Given the description of an element on the screen output the (x, y) to click on. 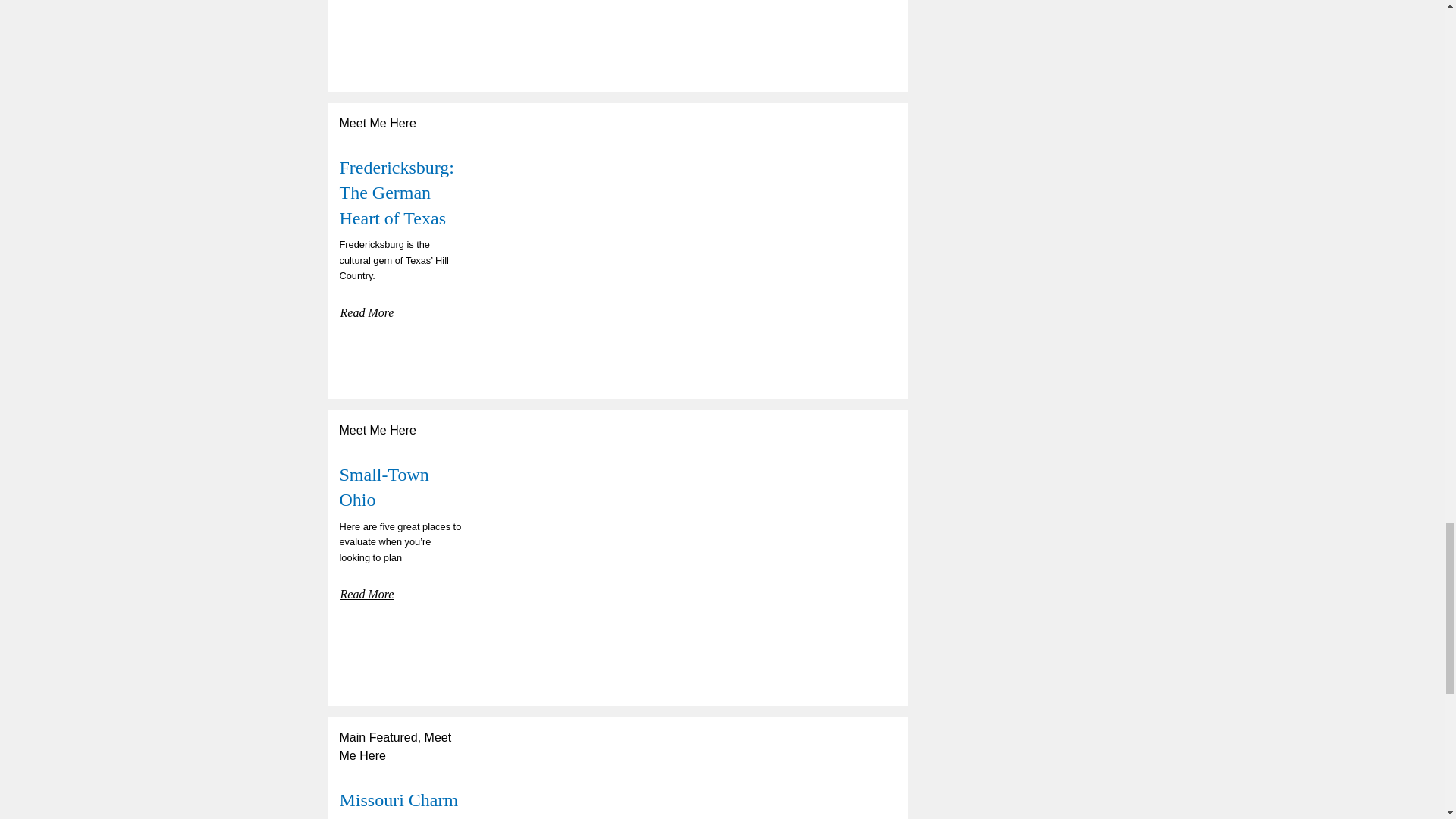
Missouri Charm (398, 799)
Small-Town Ohio (384, 487)
Fredericksburg: The German Heart of Texas (396, 193)
